Given the description of an element on the screen output the (x, y) to click on. 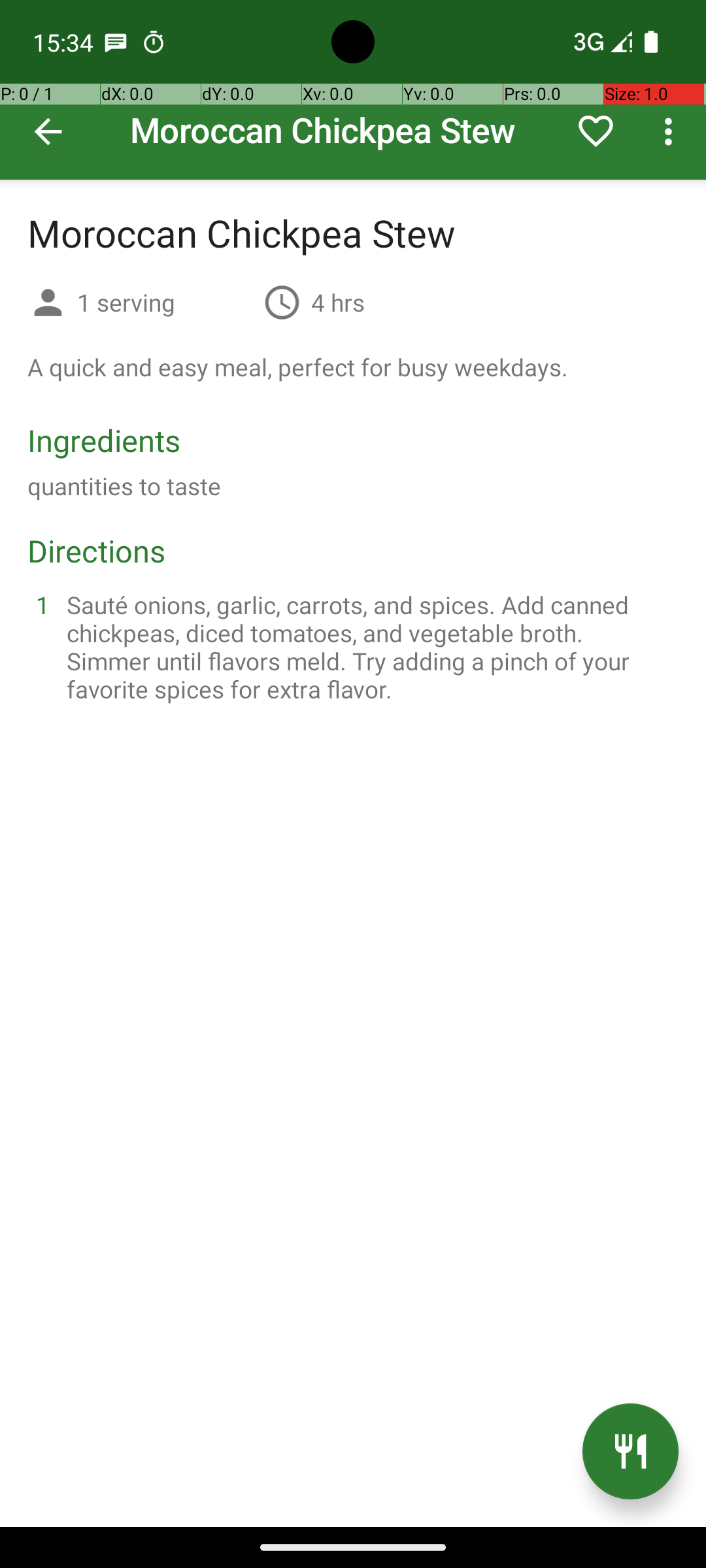
Sauté onions, garlic, carrots, and spices. Add canned chickpeas, diced tomatoes, and vegetable broth. Simmer until flavors meld. Try adding a pinch of your favorite spices for extra flavor. Element type: android.widget.TextView (368, 646)
